Given the description of an element on the screen output the (x, y) to click on. 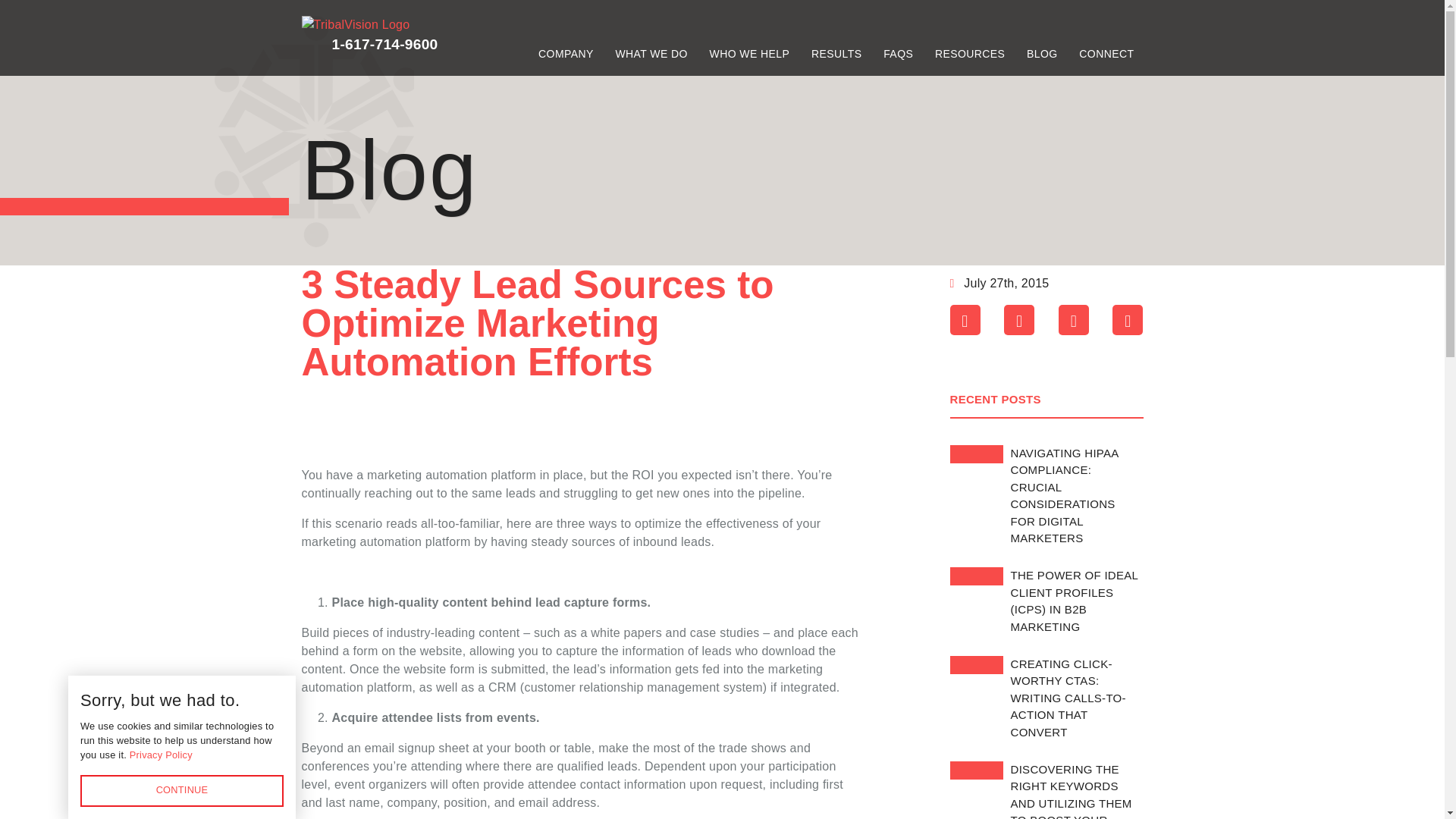
WHAT WE DO (650, 52)
RESOURCES (969, 52)
BLOG (1042, 52)
FAQS (898, 52)
TribalVision (355, 24)
COMPANY (565, 52)
1-617-714-9600 (384, 44)
CONNECT (1106, 52)
WHO WE HELP (749, 52)
RESULTS (836, 52)
